Given the description of an element on the screen output the (x, y) to click on. 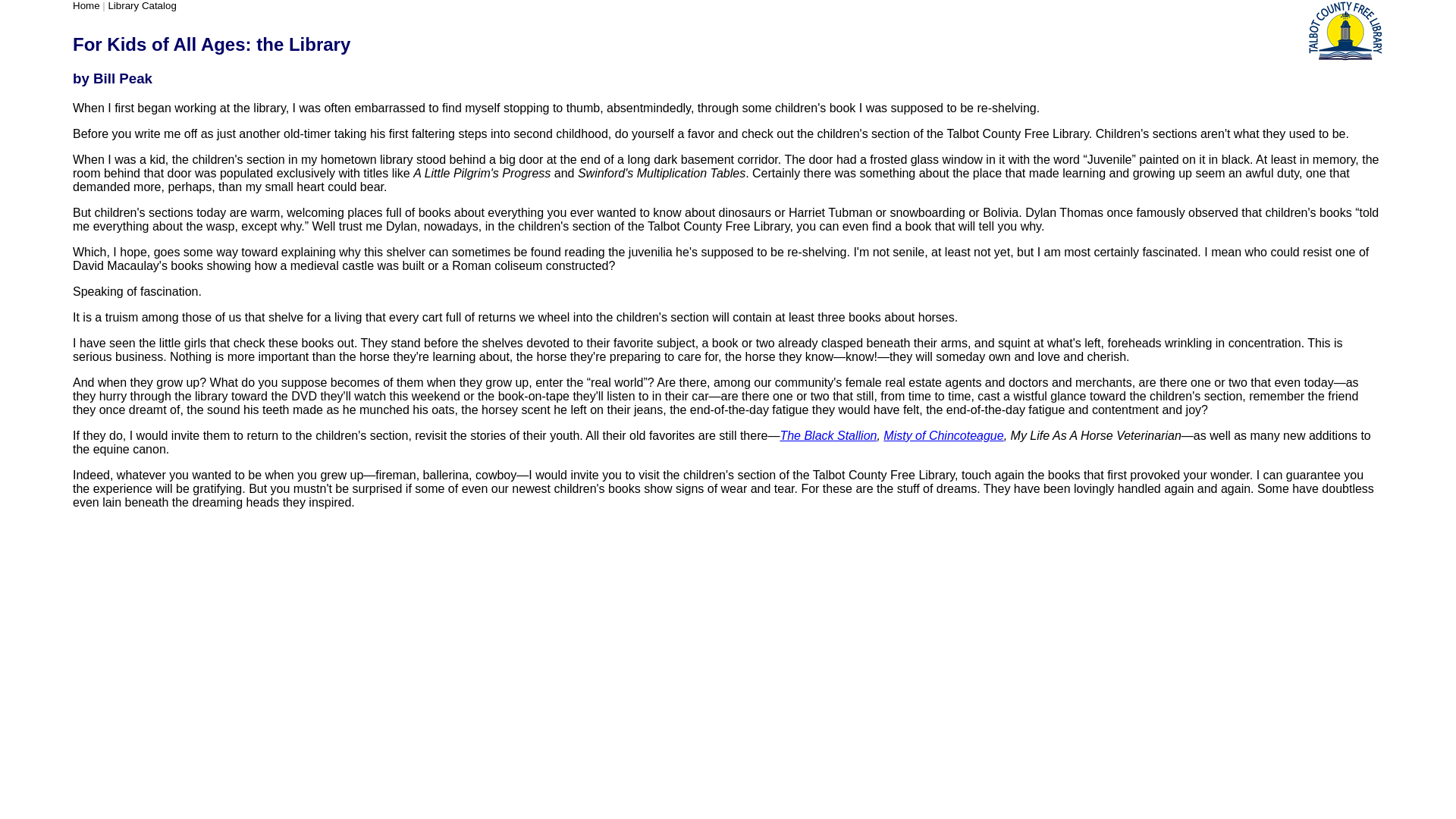
The Black Stallion (827, 435)
Library Catalog (141, 5)
Misty of Chincoteague (943, 435)
Home (86, 5)
